Given the description of an element on the screen output the (x, y) to click on. 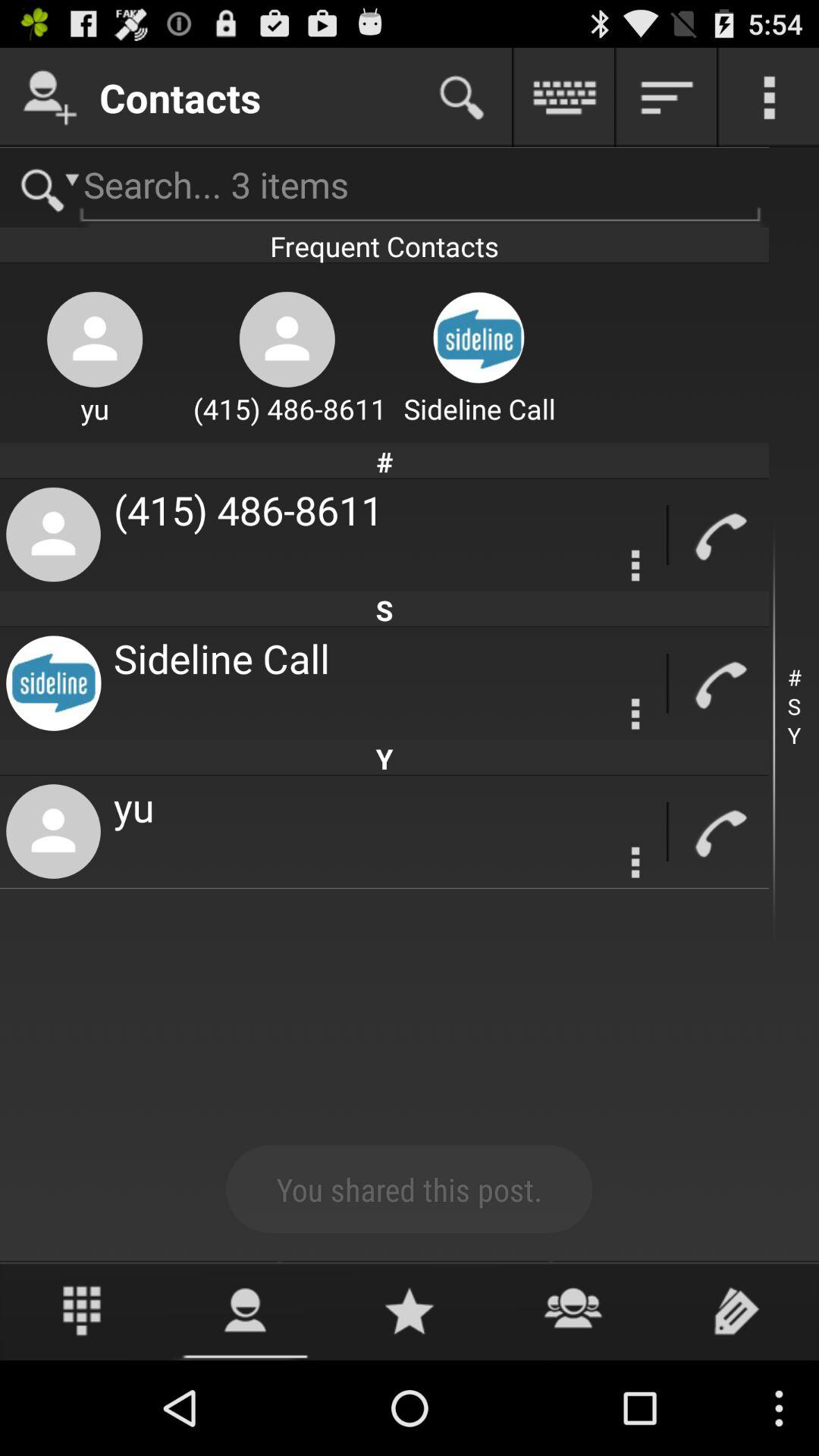
click for option (635, 862)
